Given the description of an element on the screen output the (x, y) to click on. 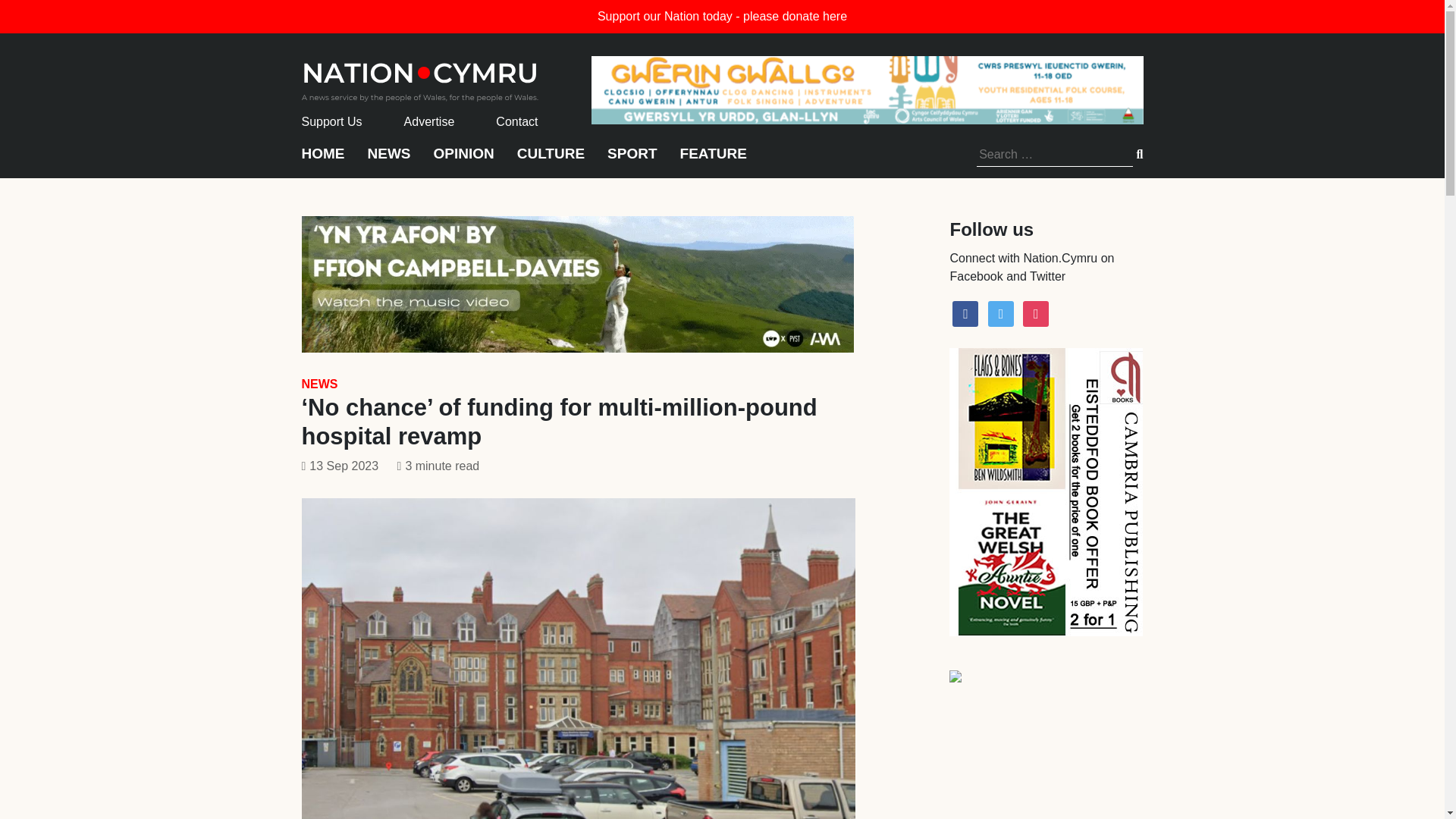
NEWS (388, 160)
FEATURE (712, 160)
Contact (516, 121)
OPINION (464, 160)
SPORT (631, 160)
NEWS (319, 383)
Support Us (331, 121)
Advertise (429, 121)
HOME (323, 160)
CULTURE (550, 160)
